Given the description of an element on the screen output the (x, y) to click on. 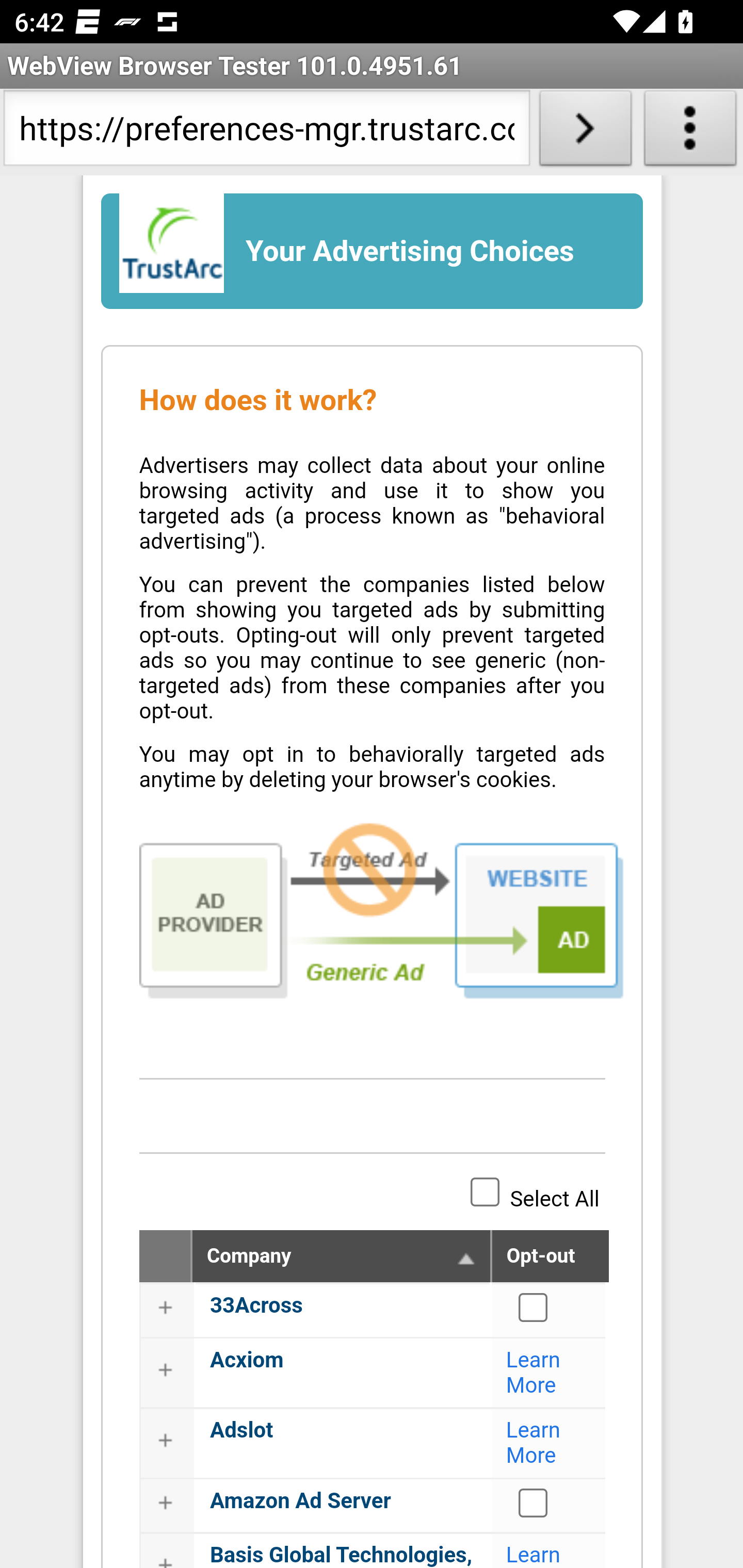
Load URL (585, 132)
About WebView (690, 132)
 Select All  (484, 1191)
Company list, sort alphabetically ascending (466, 1259)
33Across (256, 1306)
33Across (533, 1307)
Acxiom (247, 1359)
Learn More (533, 1372)
Adslot (241, 1430)
Learn More (533, 1443)
Amazon Ad Server (300, 1501)
Amazon Ad Server (533, 1502)
Basis Global Technologies, Inc. (341, 1554)
Learn More (533, 1554)
